Given the description of an element on the screen output the (x, y) to click on. 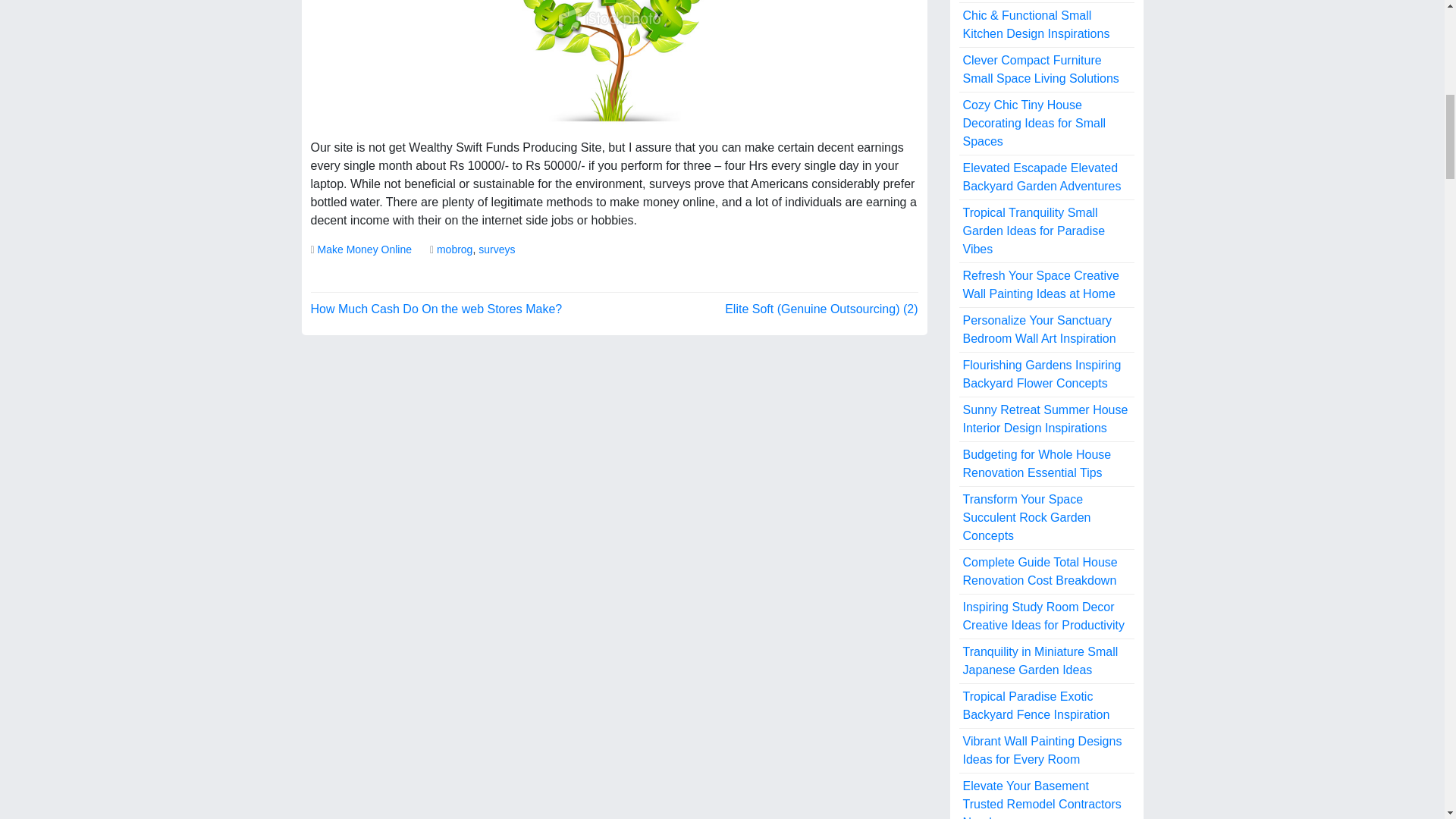
Make Money Online (364, 249)
surveys (497, 249)
How Much Cash Do On the web Stores Make? (436, 308)
mobrog (453, 249)
